Given the description of an element on the screen output the (x, y) to click on. 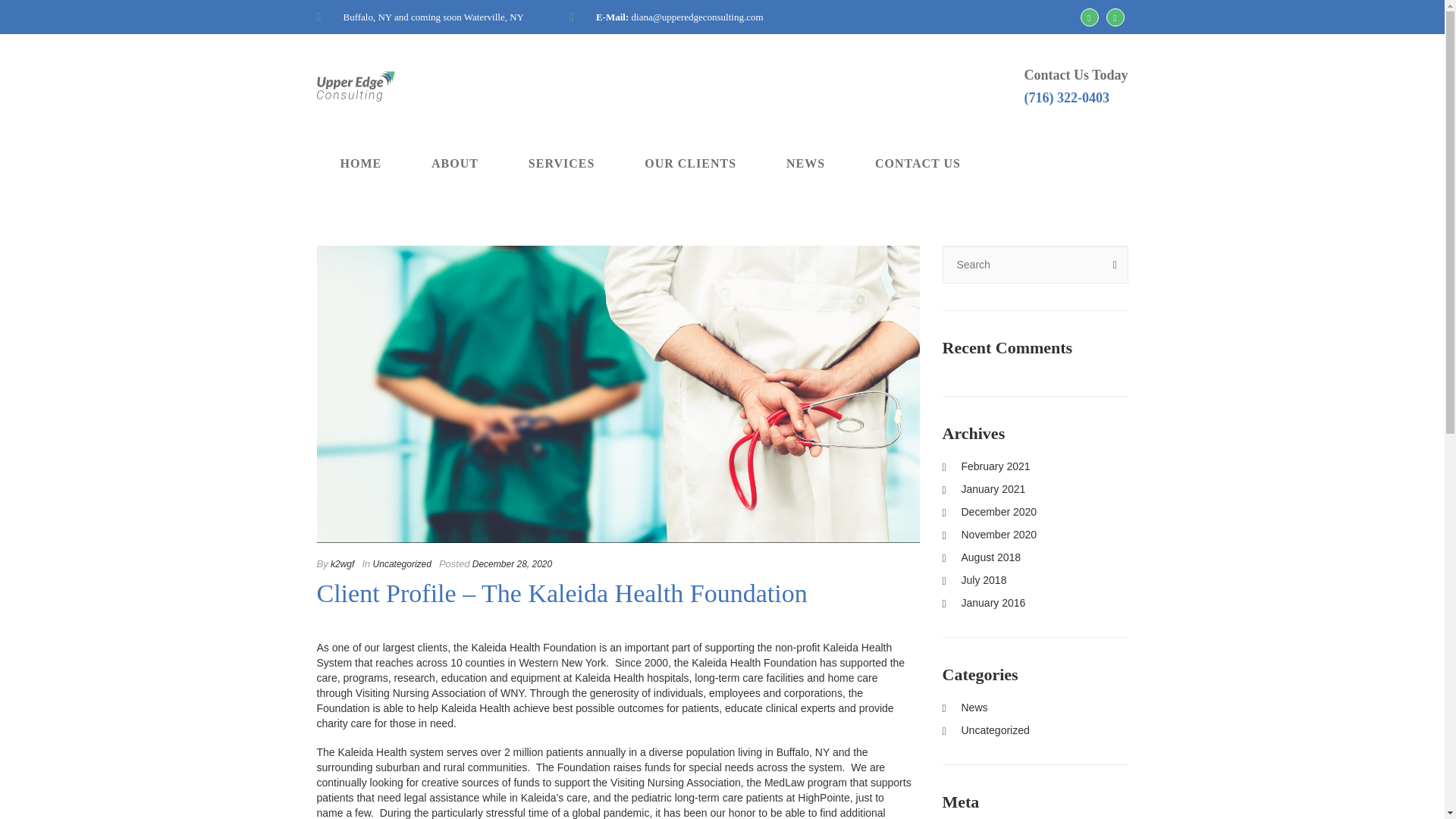
News (964, 707)
CONTACT US (917, 163)
July 2018 (974, 580)
August 2018 (981, 557)
January 2016 (983, 603)
February 2021 (985, 466)
HOME (360, 163)
Uncategorized (401, 563)
OUR CLIENTS (690, 163)
Buffalo, NY and coming soon Waterville, NY (420, 16)
SERVICES (561, 163)
ABOUT (454, 163)
December 28, 2020 (511, 563)
November 2020 (989, 534)
NEWS (805, 163)
